Given the description of an element on the screen output the (x, y) to click on. 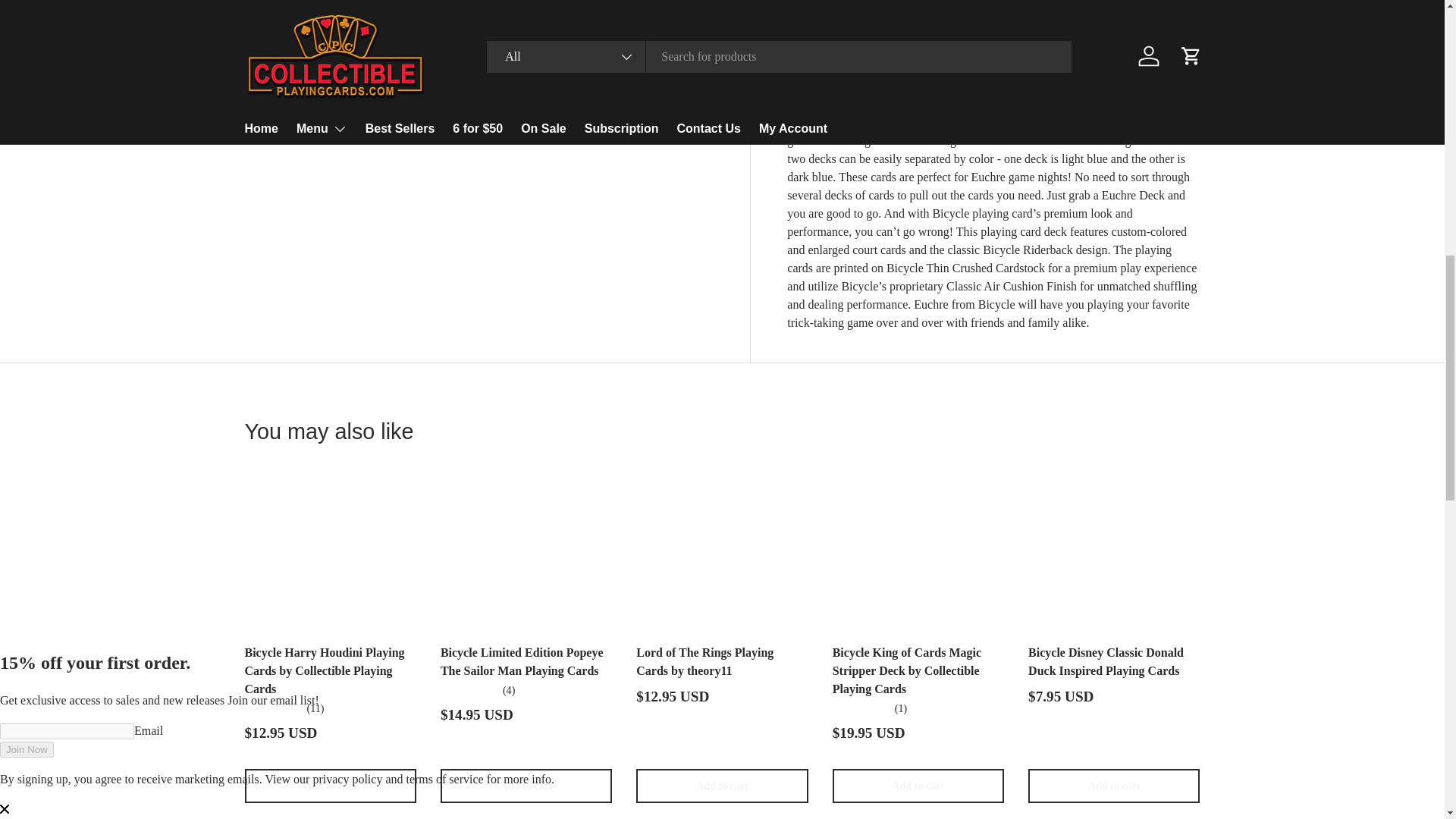
View Offer Details (992, 11)
